Given the description of an element on the screen output the (x, y) to click on. 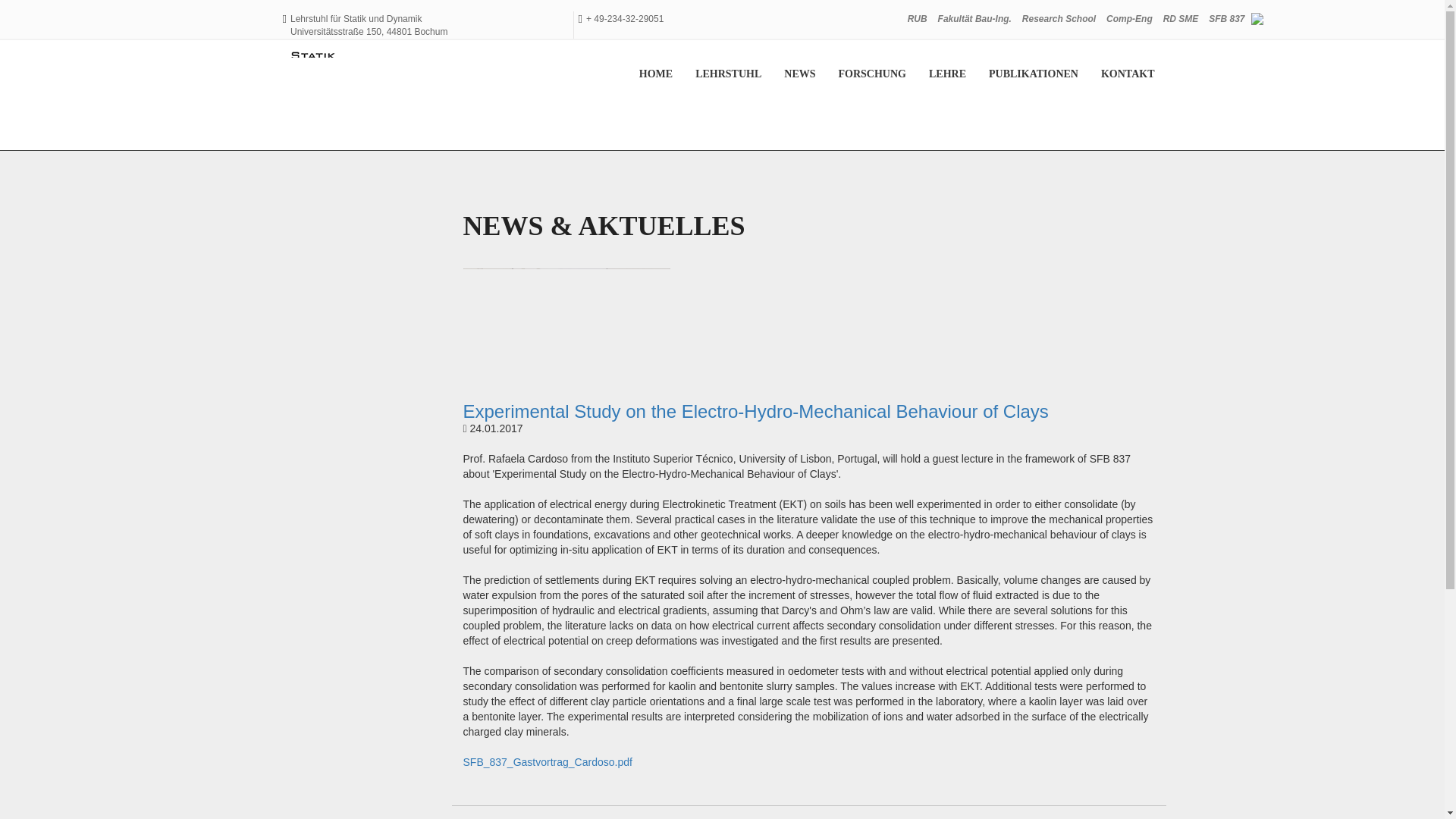
LEHRE (946, 74)
Research School (1058, 18)
LEHRSTUHL (728, 74)
RD SME (1180, 18)
FORSCHUNG (872, 74)
PUBLIKATIONEN (1032, 74)
SFB 837 (1226, 18)
NEWS (800, 74)
KONTAKT (1127, 74)
RUB (917, 18)
Comp-Eng (1129, 18)
